Given the description of an element on the screen output the (x, y) to click on. 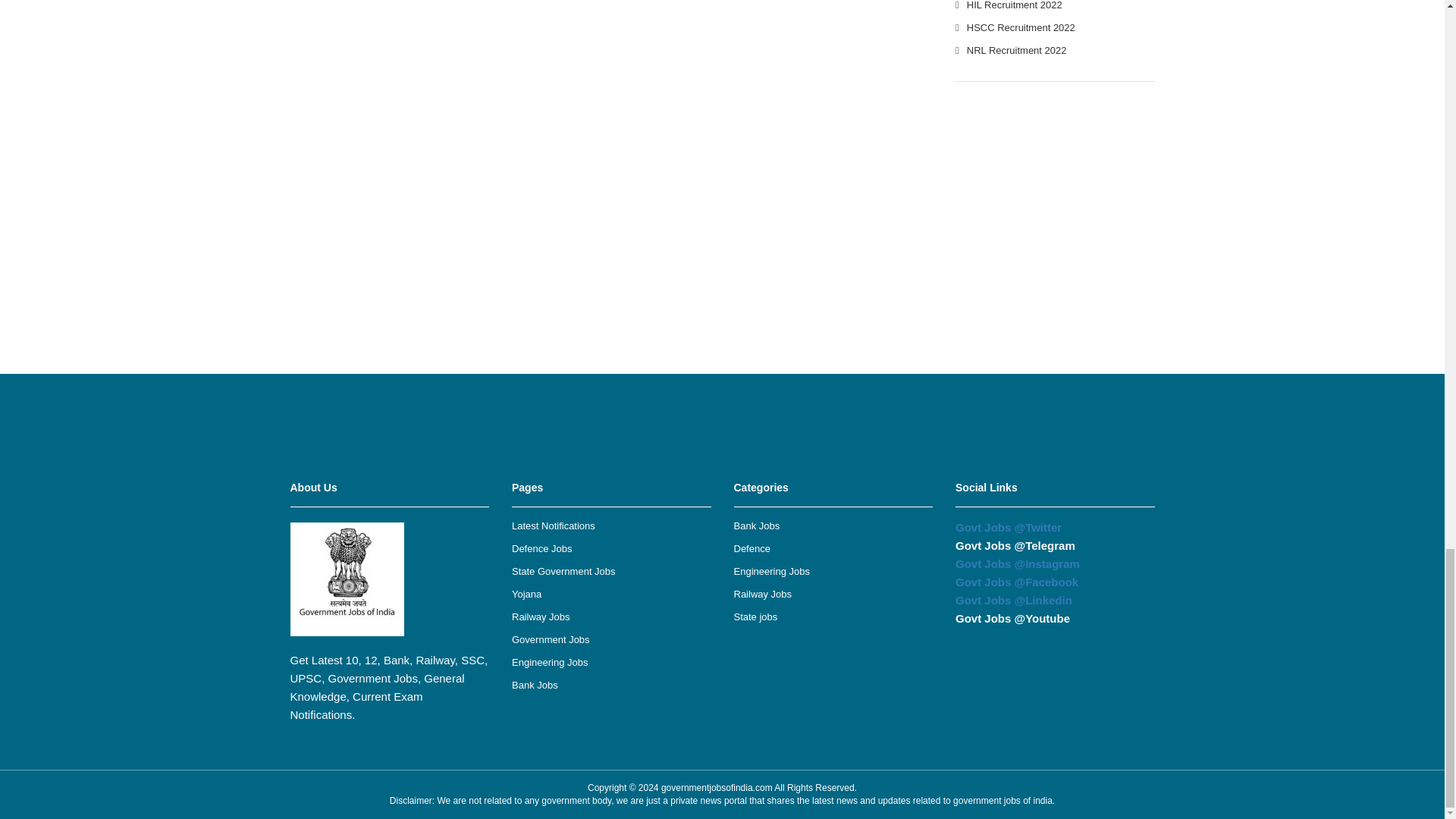
State Government Jobs (563, 571)
Latest Notifications (553, 525)
Railway Jobs (541, 616)
NRL Recruitment 2022 (1016, 50)
HIL Recruitment 2022 (1014, 5)
Defence Jobs (542, 548)
Advertisement (721, 407)
Yojana (526, 593)
HSCC Recruitment 2022 (1020, 27)
